Given the description of an element on the screen output the (x, y) to click on. 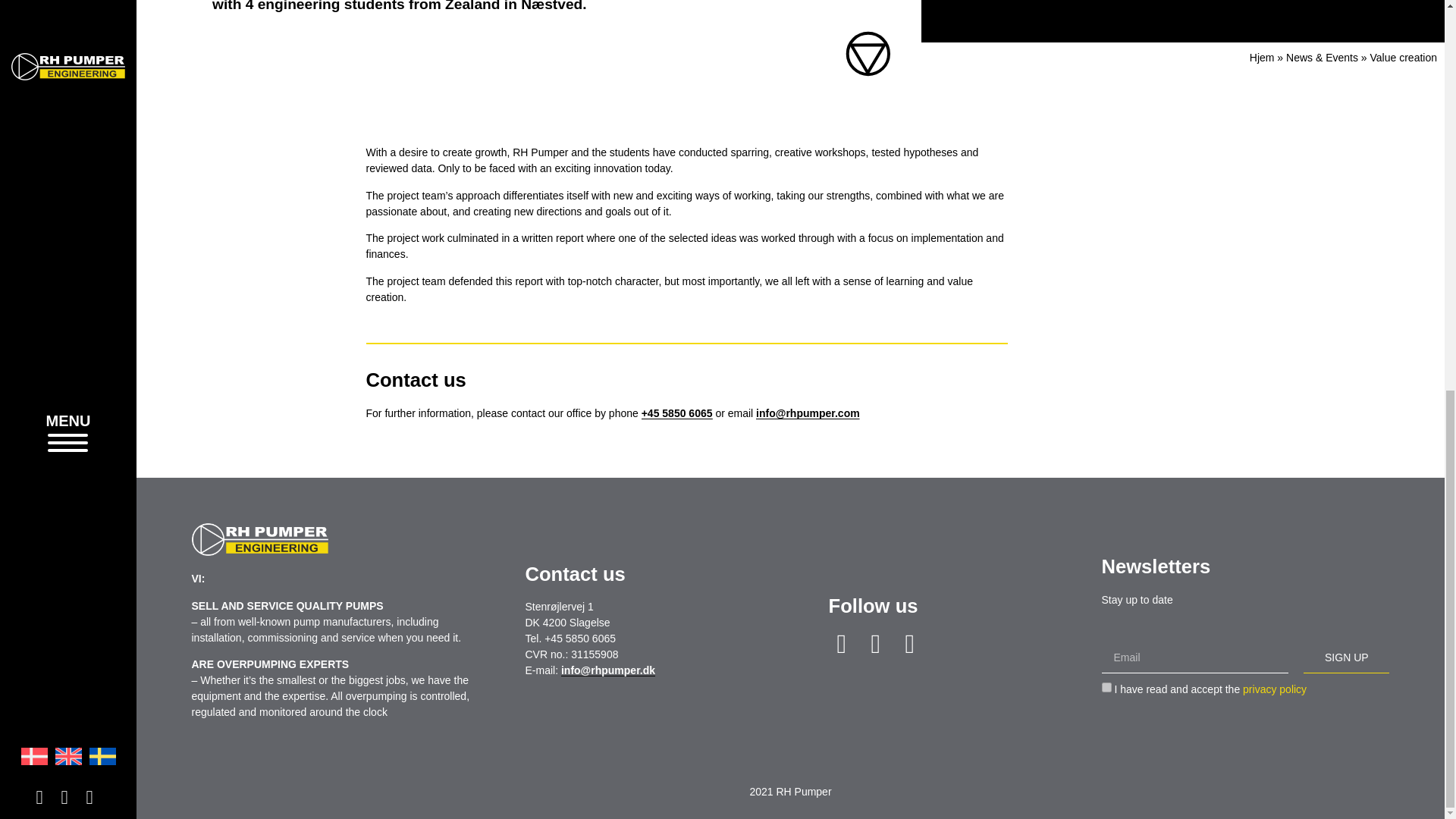
on (1105, 687)
Hjem (1262, 57)
privacy policy (1274, 689)
SIGN UP (1346, 657)
